Given the description of an element on the screen output the (x, y) to click on. 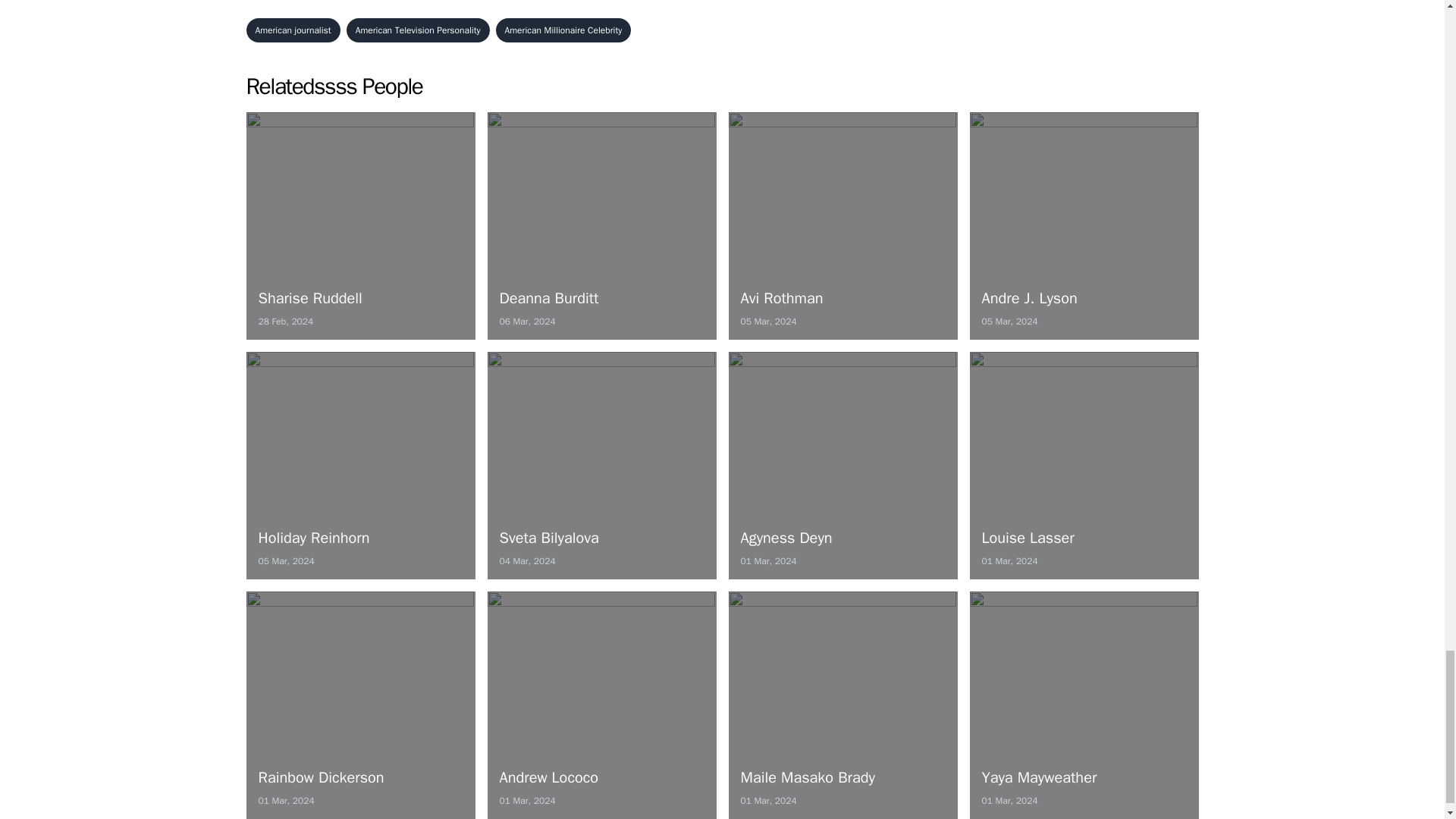
American Television Personality (417, 30)
American journalist (842, 465)
American Millionaire Celebrity (1083, 225)
